Given the description of an element on the screen output the (x, y) to click on. 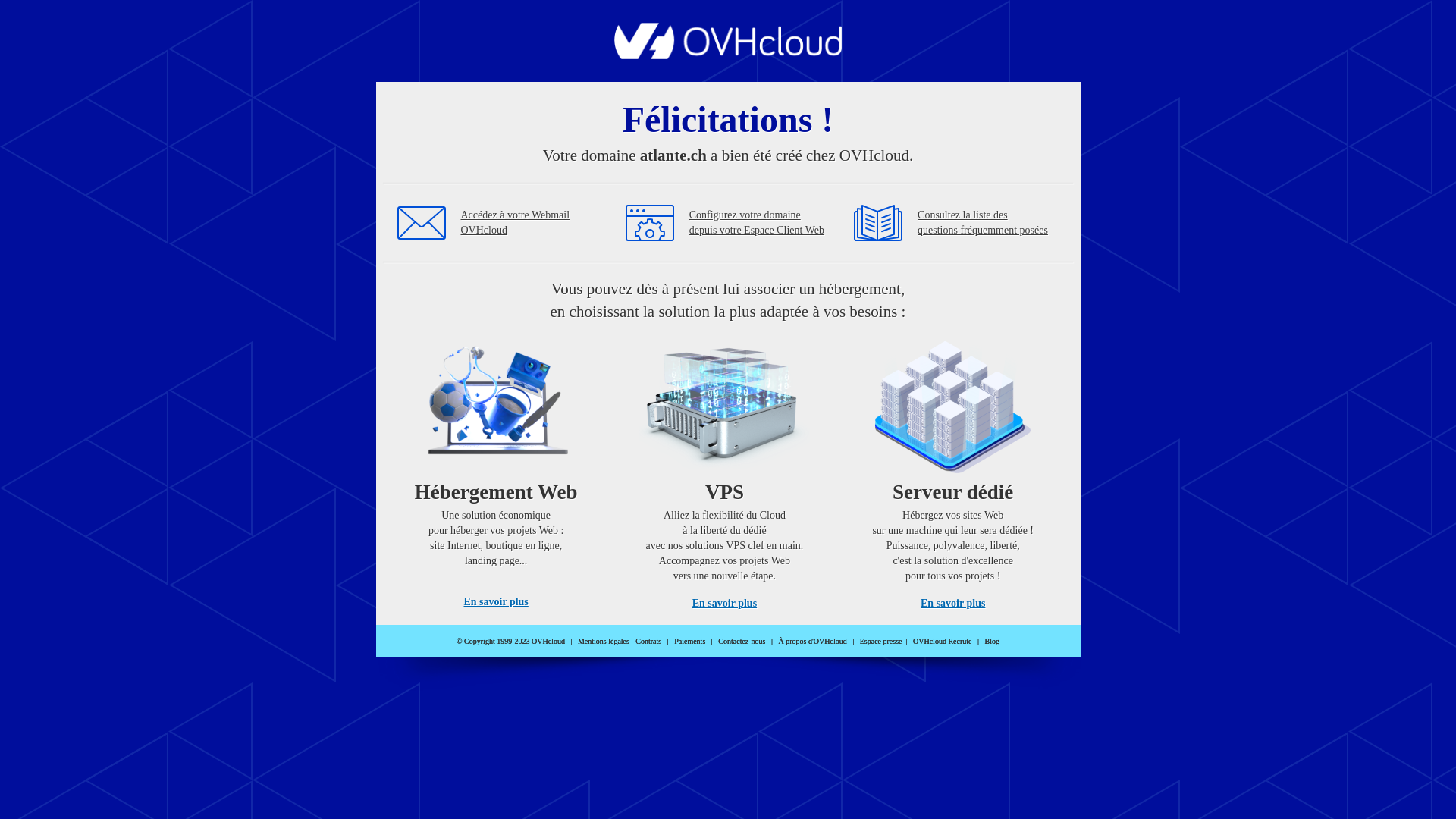
Espace presse Element type: text (880, 641)
Blog Element type: text (992, 641)
En savoir plus Element type: text (952, 602)
OVHcloud Recrute Element type: text (942, 641)
Contactez-nous Element type: text (741, 641)
Configurez votre domaine
depuis votre Espace Client Web Element type: text (756, 222)
Paiements Element type: text (689, 641)
En savoir plus Element type: text (495, 601)
En savoir plus Element type: text (724, 602)
VPS Element type: hover (724, 469)
OVHcloud Element type: hover (727, 54)
